Given the description of an element on the screen output the (x, y) to click on. 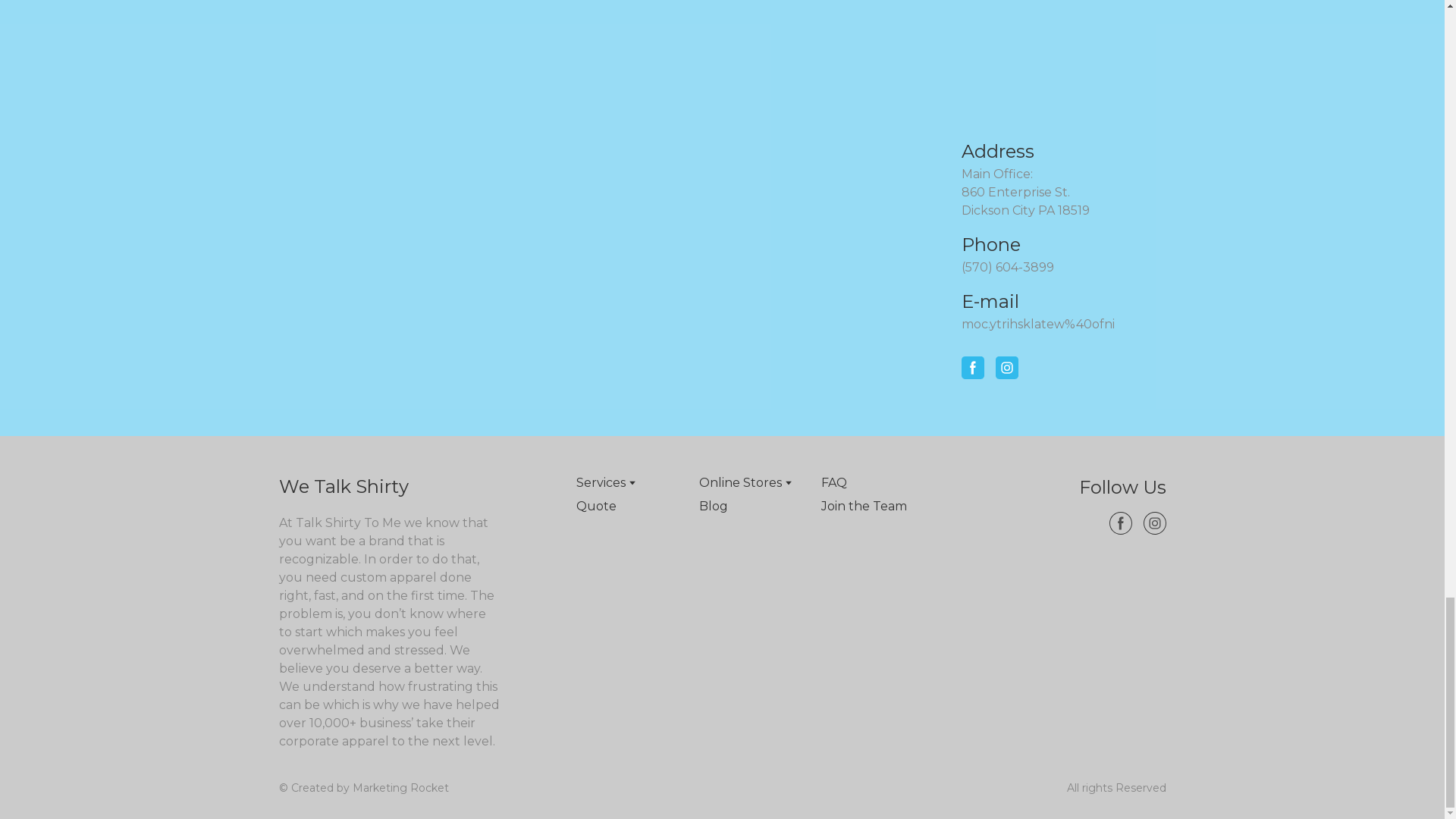
Join the Team (864, 506)
We Talk Shirty (381, 487)
Blog (713, 506)
FAQ (834, 483)
Quote (595, 506)
